Given the description of an element on the screen output the (x, y) to click on. 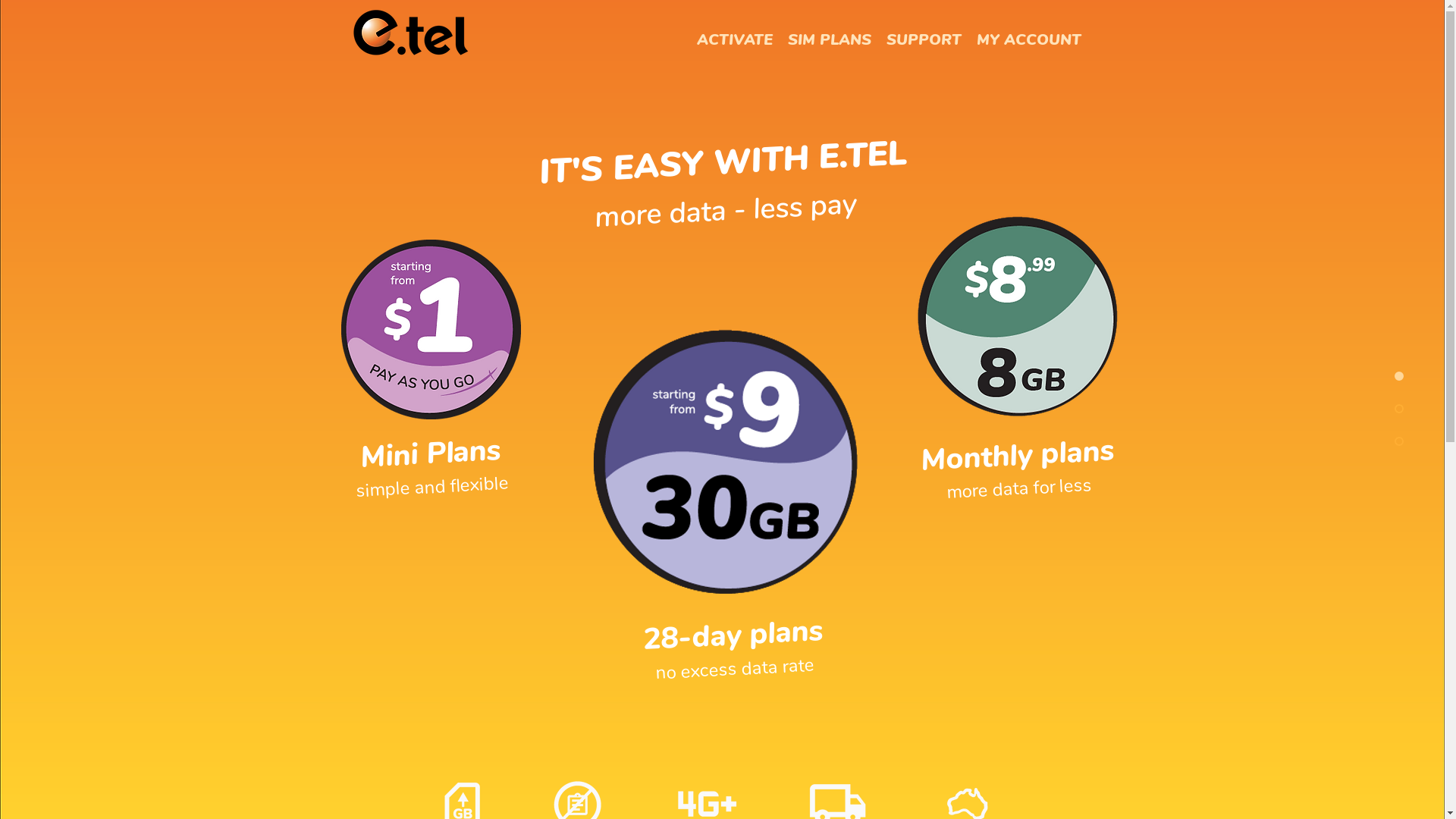
MY ACCOUNT Element type: text (1028, 39)
ACTIVATE Element type: text (733, 39)
